Given the description of an element on the screen output the (x, y) to click on. 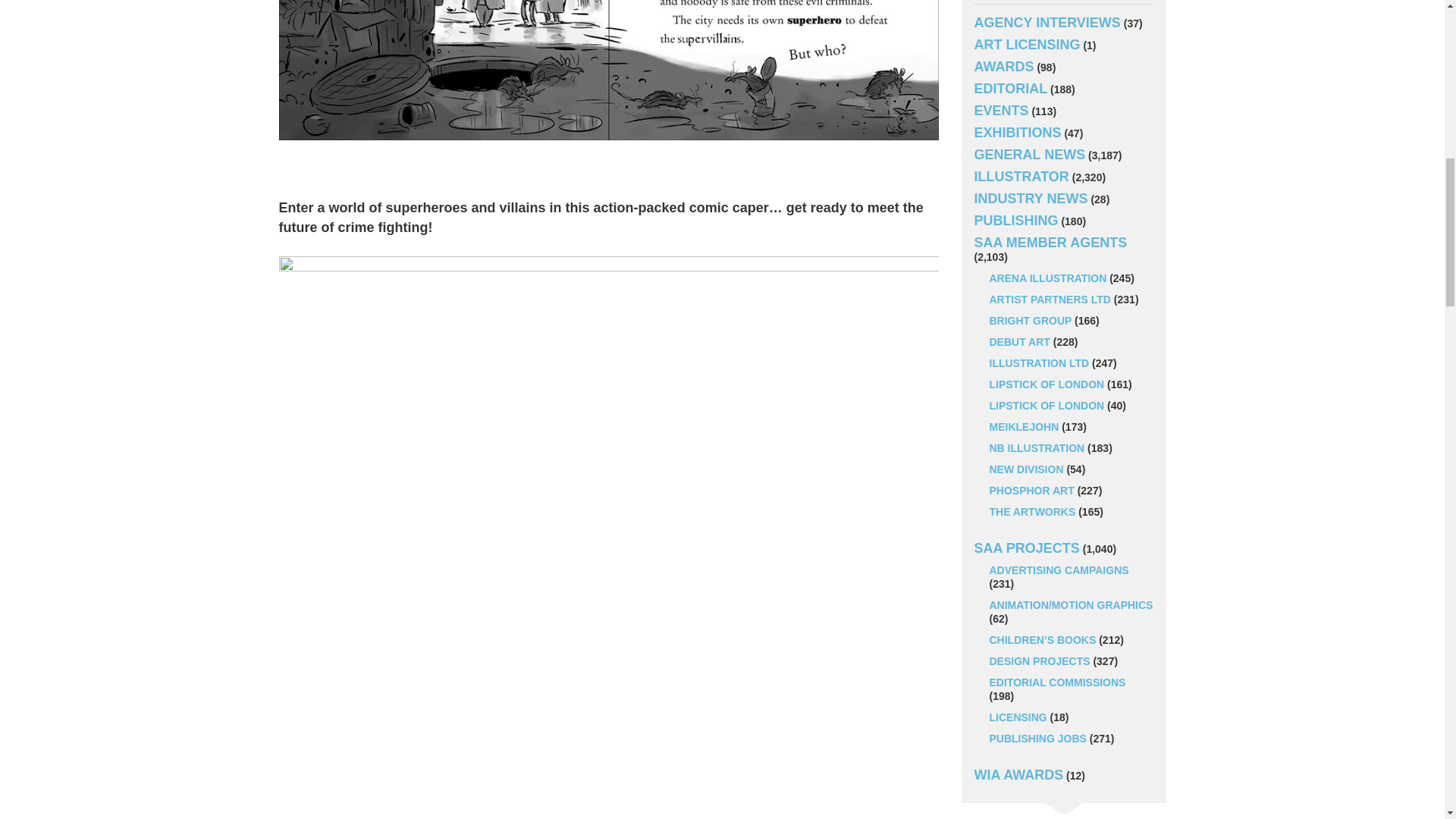
EXHIBITIONS (1017, 132)
AGENCY INTERVIEWS (1046, 22)
EDITORIAL (1010, 88)
GENERAL NEWS (1029, 154)
AWARDS (1003, 66)
ART LICENSING (1027, 44)
EVENTS (1000, 110)
